Given the description of an element on the screen output the (x, y) to click on. 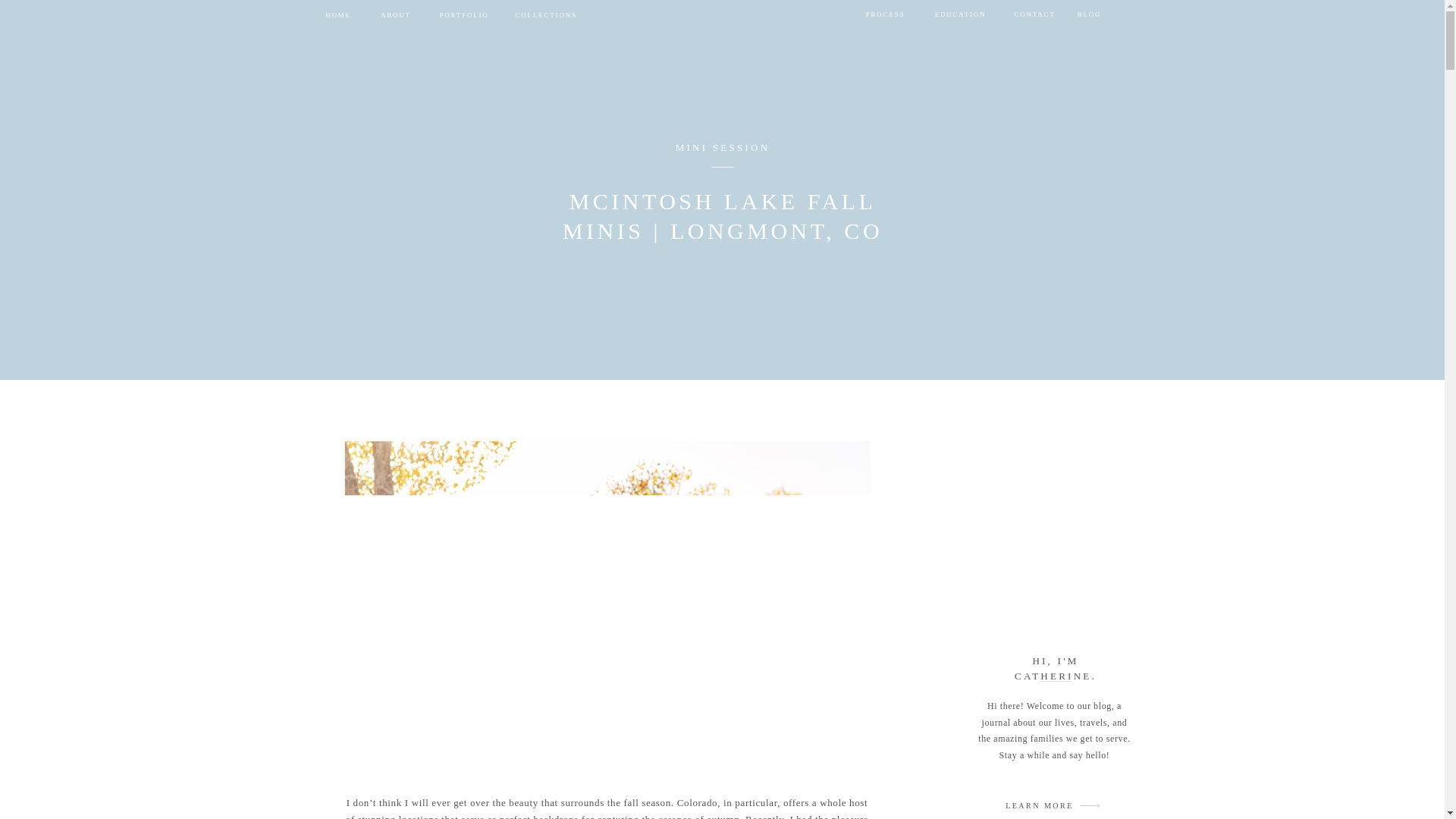
COLLECTIONS (545, 15)
arrow (1089, 803)
PORTFOLIO (464, 15)
MINI SESSION (722, 147)
ABOUT (395, 15)
EDUCATION (960, 15)
PROCESS (885, 15)
LEARN MORE (1039, 807)
HOME (338, 15)
CONTACT (1034, 15)
